Given the description of an element on the screen output the (x, y) to click on. 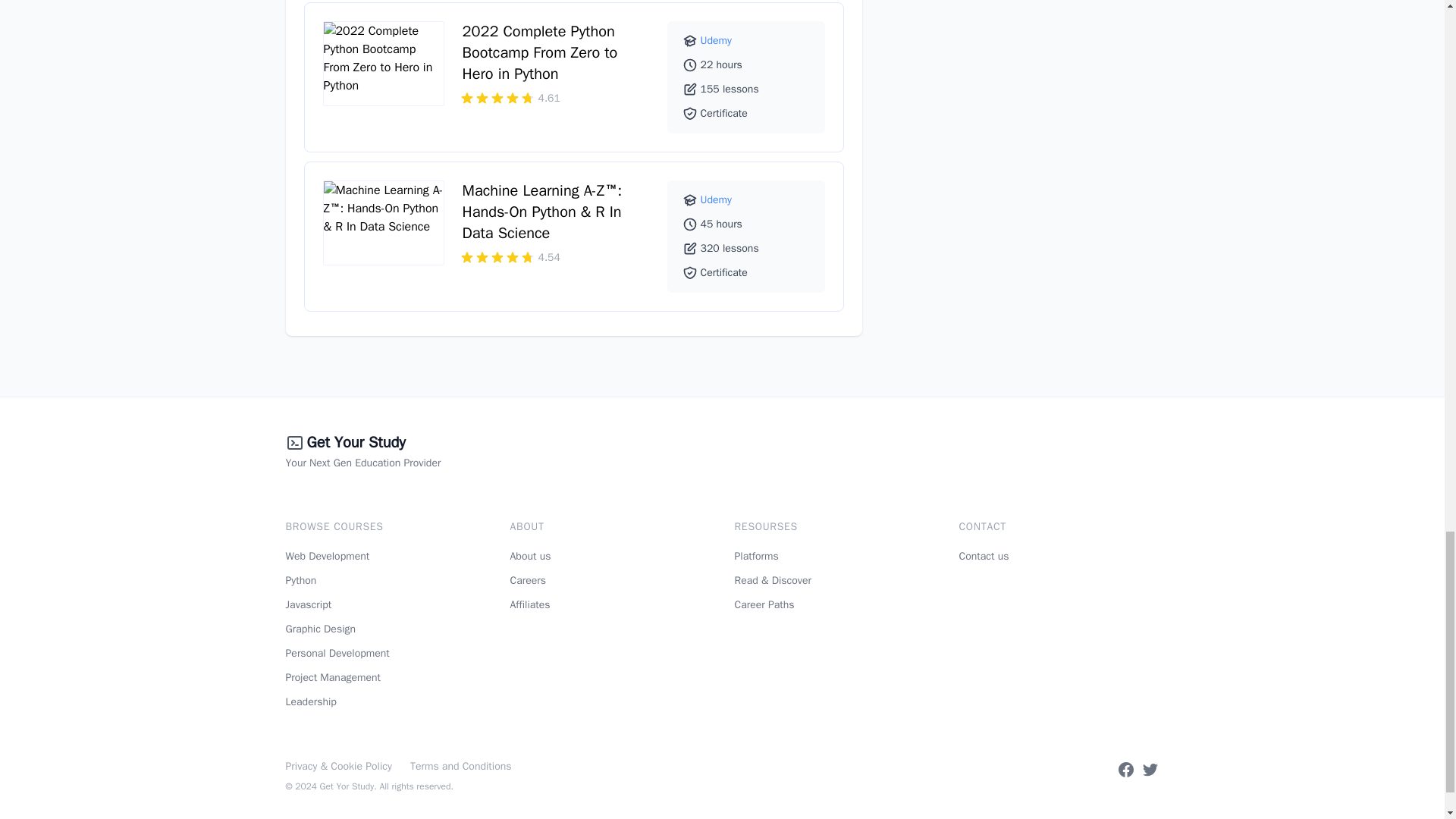
2022 Complete Python Bootcamp From Zero to Hero in Python (540, 52)
Get Your Study (354, 442)
Udemy (716, 40)
Udemy (716, 199)
